Given the description of an element on the screen output the (x, y) to click on. 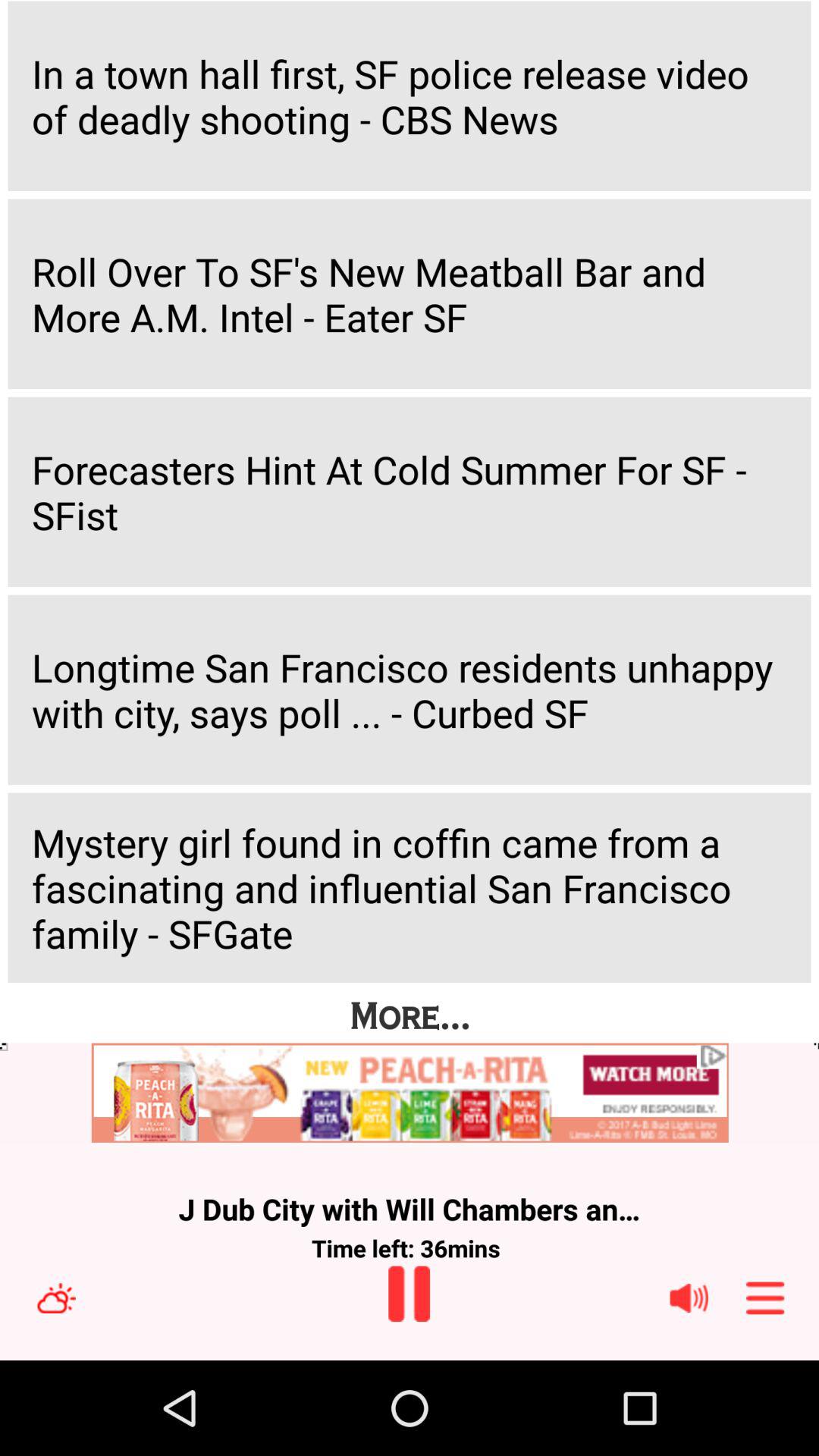
banner advertisement (409, 1093)
